Given the description of an element on the screen output the (x, y) to click on. 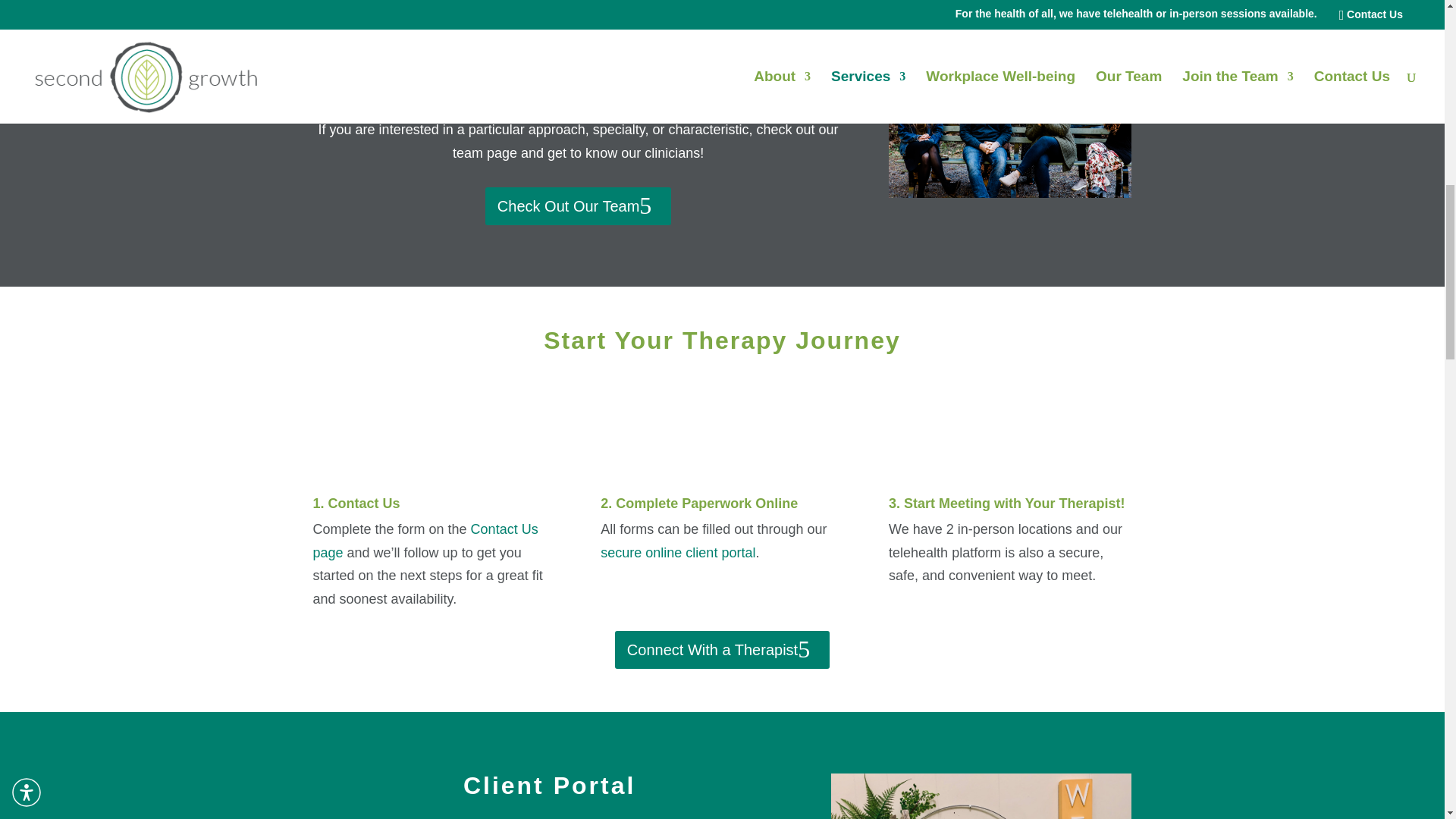
Check Out Our Team (577, 206)
Second Growth Counseling Team Laughing (1009, 112)
client portal (718, 552)
secure (620, 552)
Second Growth Counseling Welcome Sign (981, 796)
Contact Us page (425, 540)
onlin (658, 552)
